Given the description of an element on the screen output the (x, y) to click on. 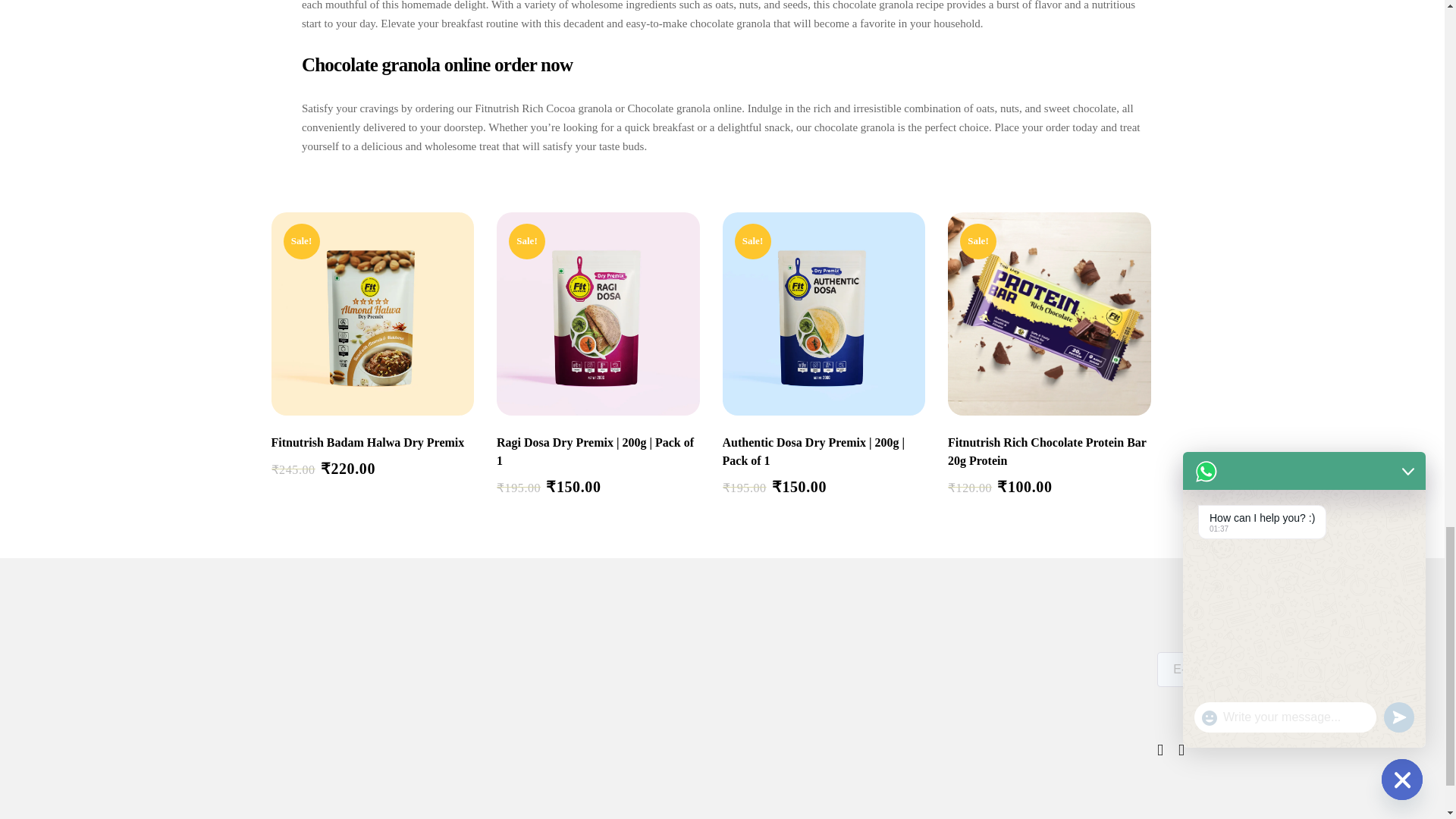
Sale! (1049, 313)
Fitnutrish Badam Halwa Dry Premix (372, 442)
Sale! (598, 313)
Sale! (372, 313)
Sale! (823, 313)
